Given the description of an element on the screen output the (x, y) to click on. 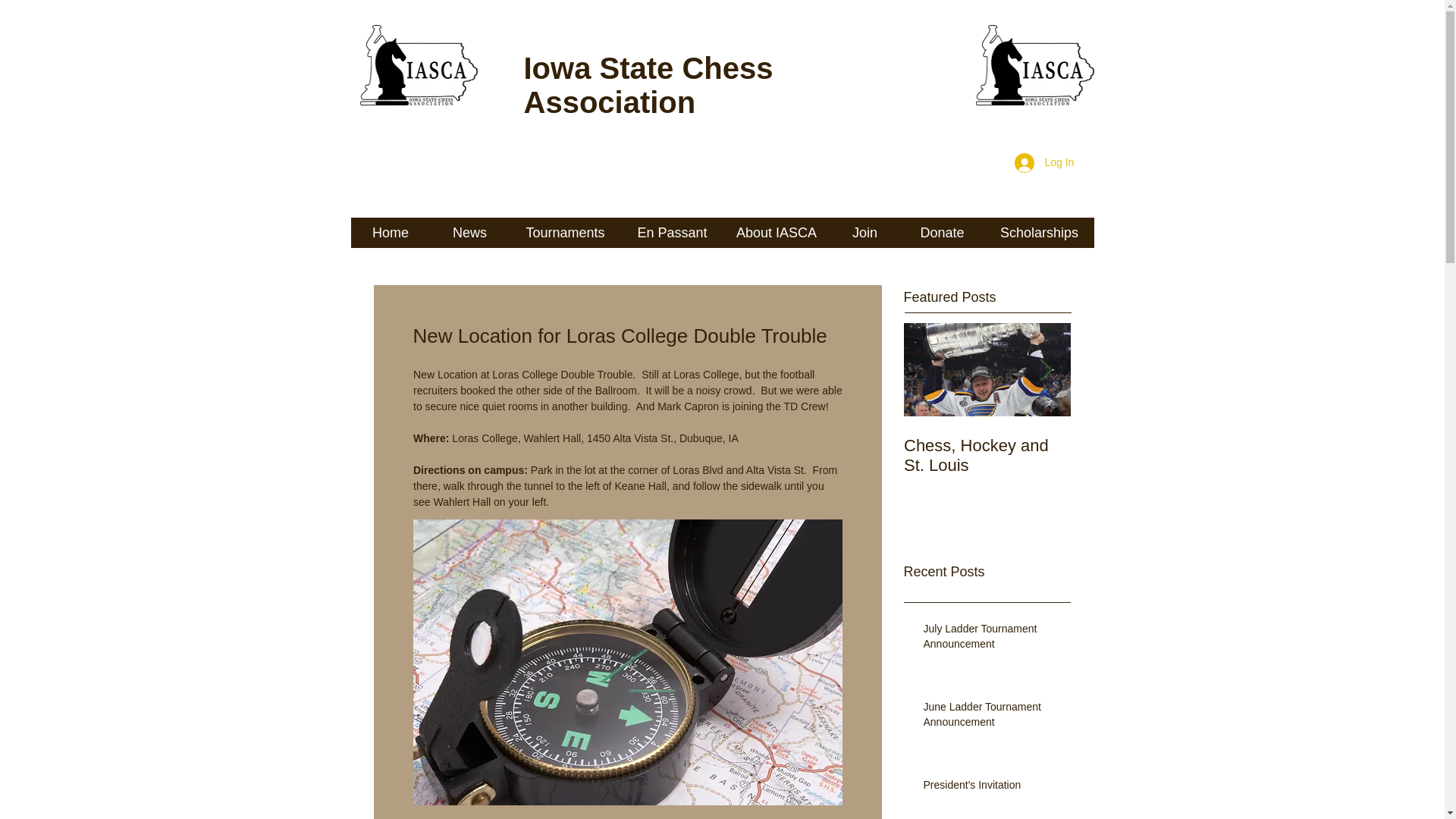
Iowa State Chess Association (647, 84)
Tournaments (565, 232)
President's Invitation (992, 788)
July Ladder Tournament Announcement (992, 639)
June Ladder Tournament Announcement (992, 717)
Chess, Hockey and St. Louis (987, 455)
Scholarships (1038, 232)
News (469, 232)
Donate (941, 232)
About IASCA (776, 232)
2018 Lee County Fair Chess Tournament (1153, 455)
Log In (1044, 162)
En Passant (672, 232)
Join (864, 232)
Home (389, 232)
